Given the description of an element on the screen output the (x, y) to click on. 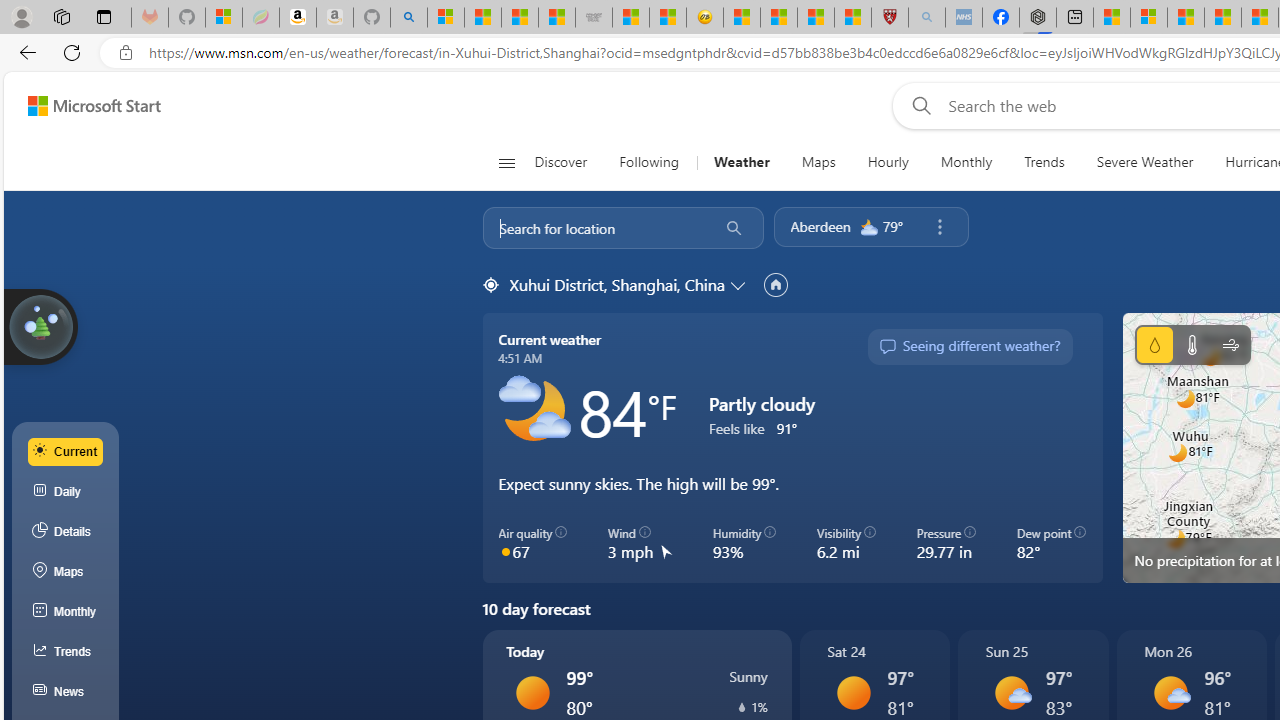
Temperature (1191, 344)
Maps (65, 572)
12 Popular Science Lies that Must be Corrected (852, 17)
Monthly (65, 611)
Join us in planting real trees to help our planet! (40, 325)
Trends (1044, 162)
Weather (741, 162)
Robert H. Shmerling, MD - Harvard Health (889, 17)
